Given the description of an element on the screen output the (x, y) to click on. 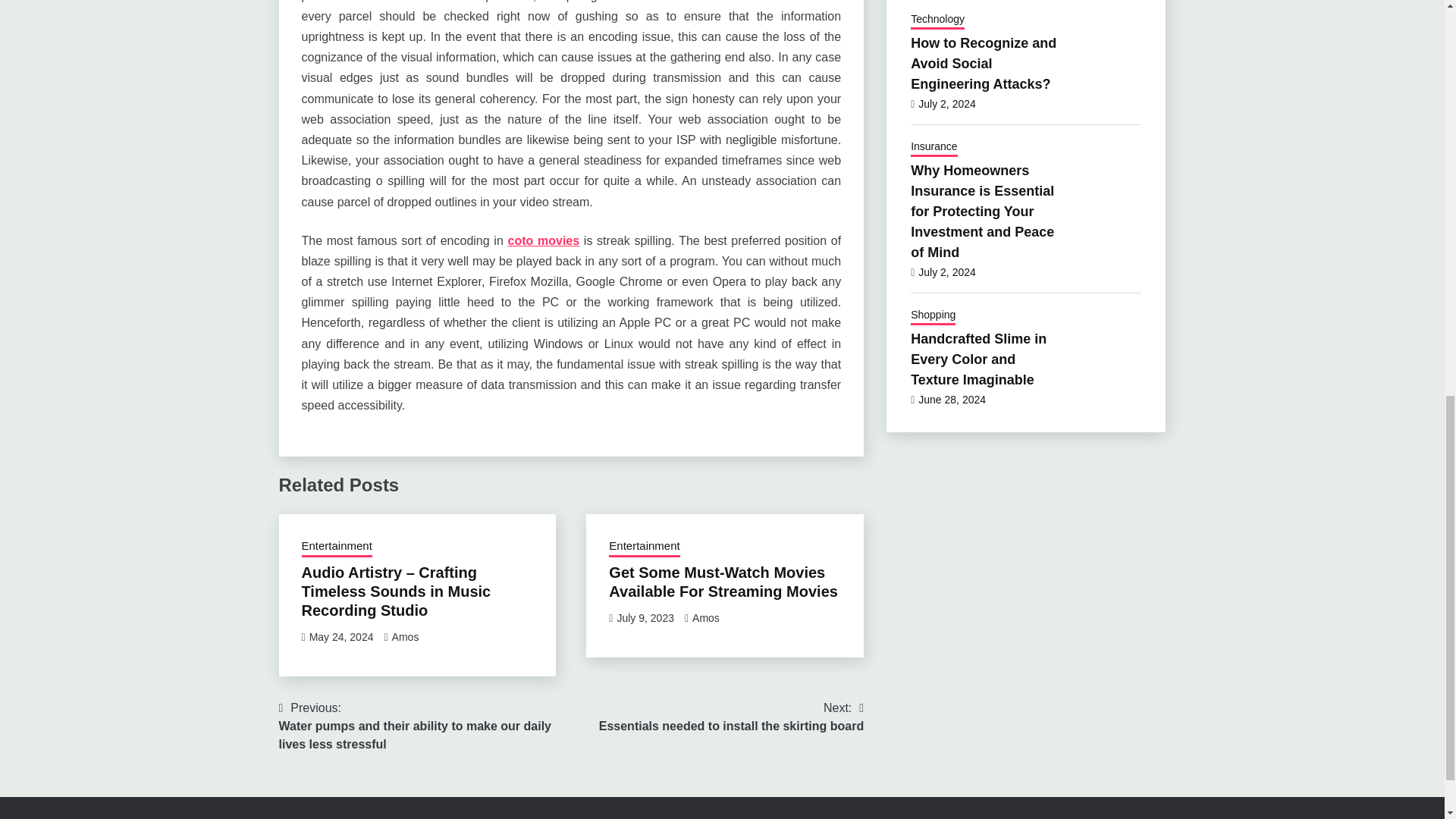
Entertainment (643, 547)
July 9, 2023 (644, 617)
Entertainment (336, 547)
Amos (706, 617)
coto movies (730, 717)
May 24, 2024 (543, 240)
Get Some Must-Watch Movies Available For Streaming Movies (341, 636)
Amos (723, 581)
